Given the description of an element on the screen output the (x, y) to click on. 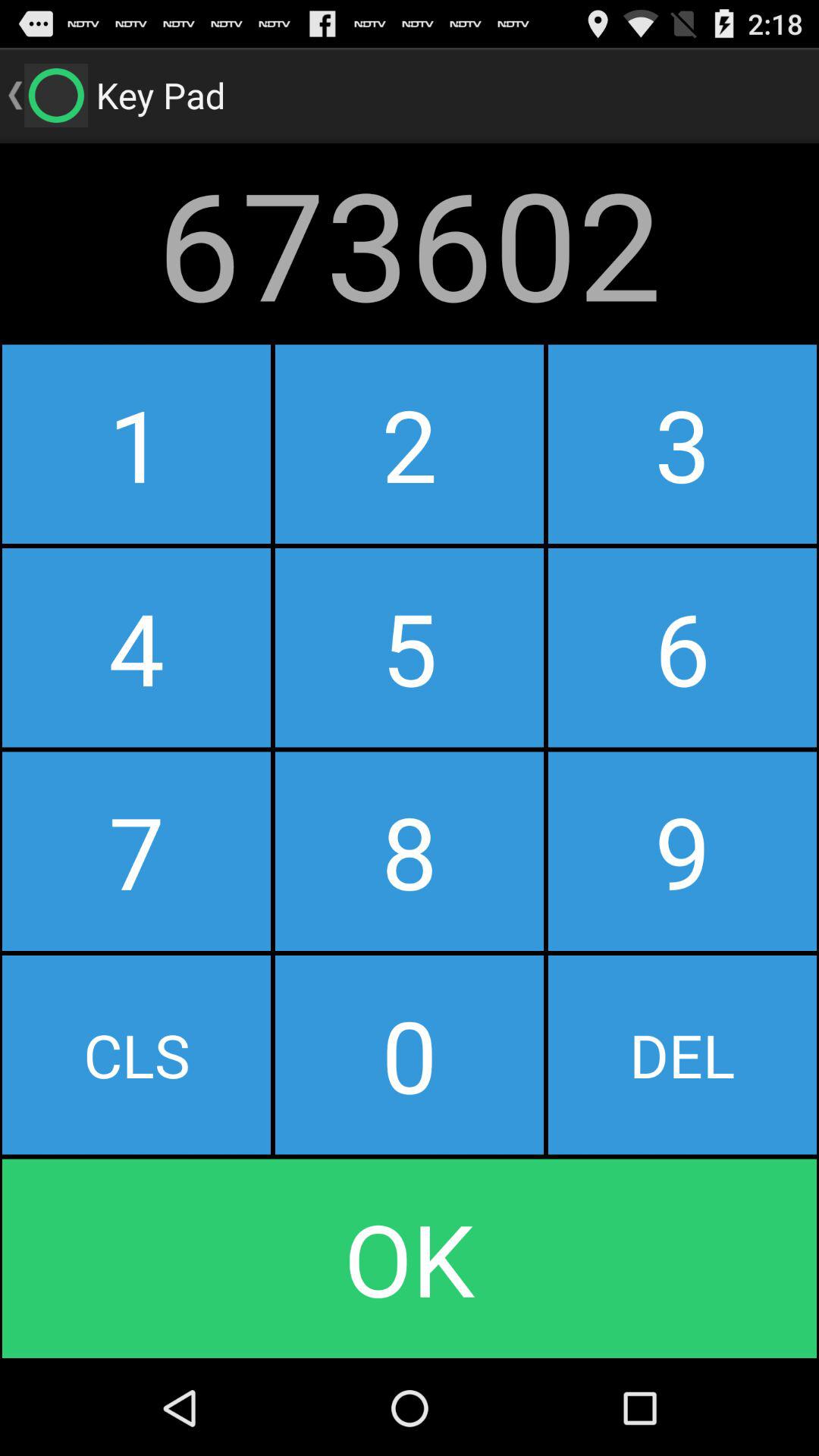
choose item next to 2 icon (136, 443)
